Given the description of an element on the screen output the (x, y) to click on. 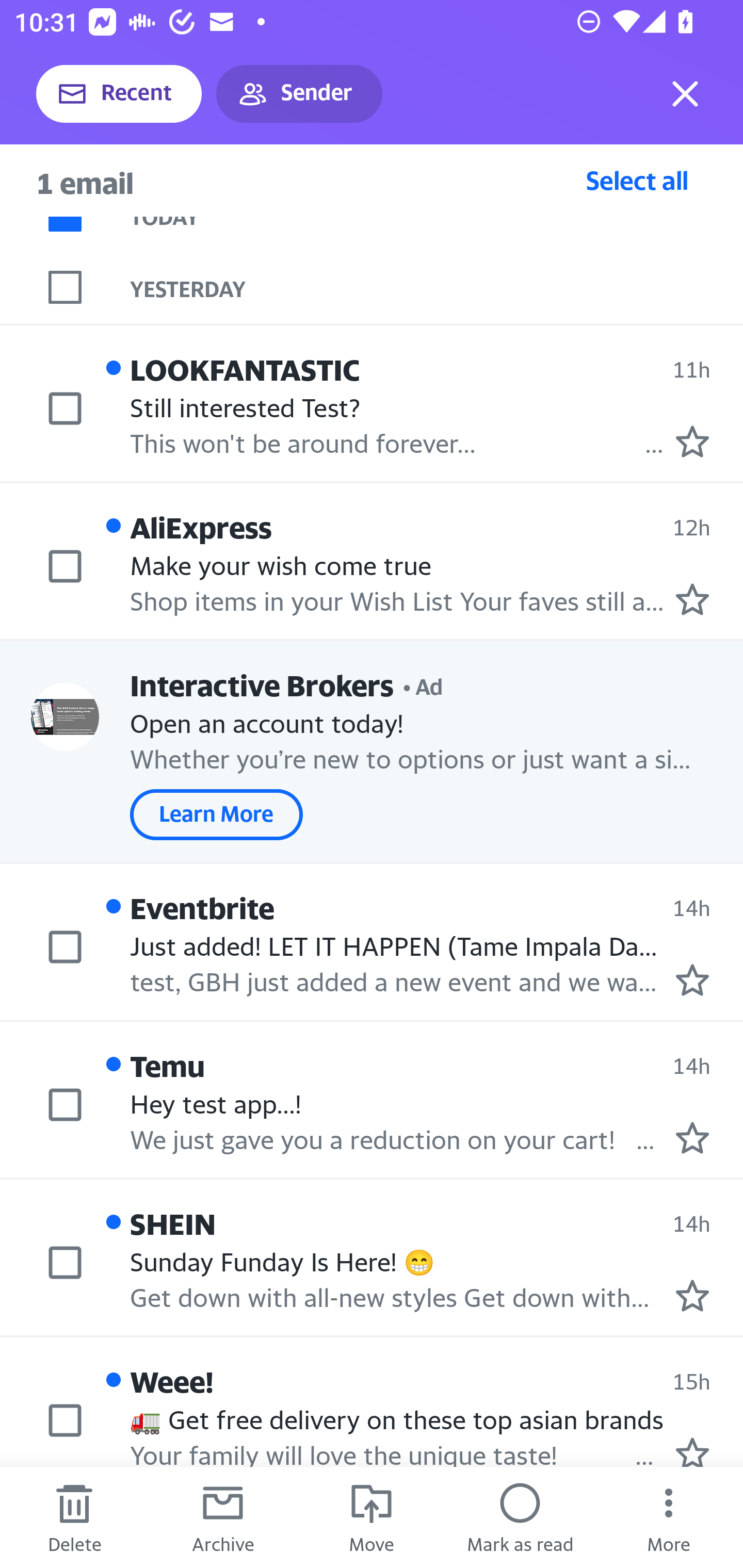
Sender (299, 93)
Exit selection mode (684, 93)
Select all (637, 180)
YESTERDAY (436, 287)
Mark as starred. (692, 441)
Mark as starred. (692, 599)
Mark as starred. (692, 979)
Mark as starred. (692, 1137)
Mark as starred. (692, 1295)
Mark as starred. (692, 1450)
Delete (74, 1517)
Archive (222, 1517)
Move (371, 1517)
Mark as read (519, 1517)
More (668, 1517)
